Given the description of an element on the screen output the (x, y) to click on. 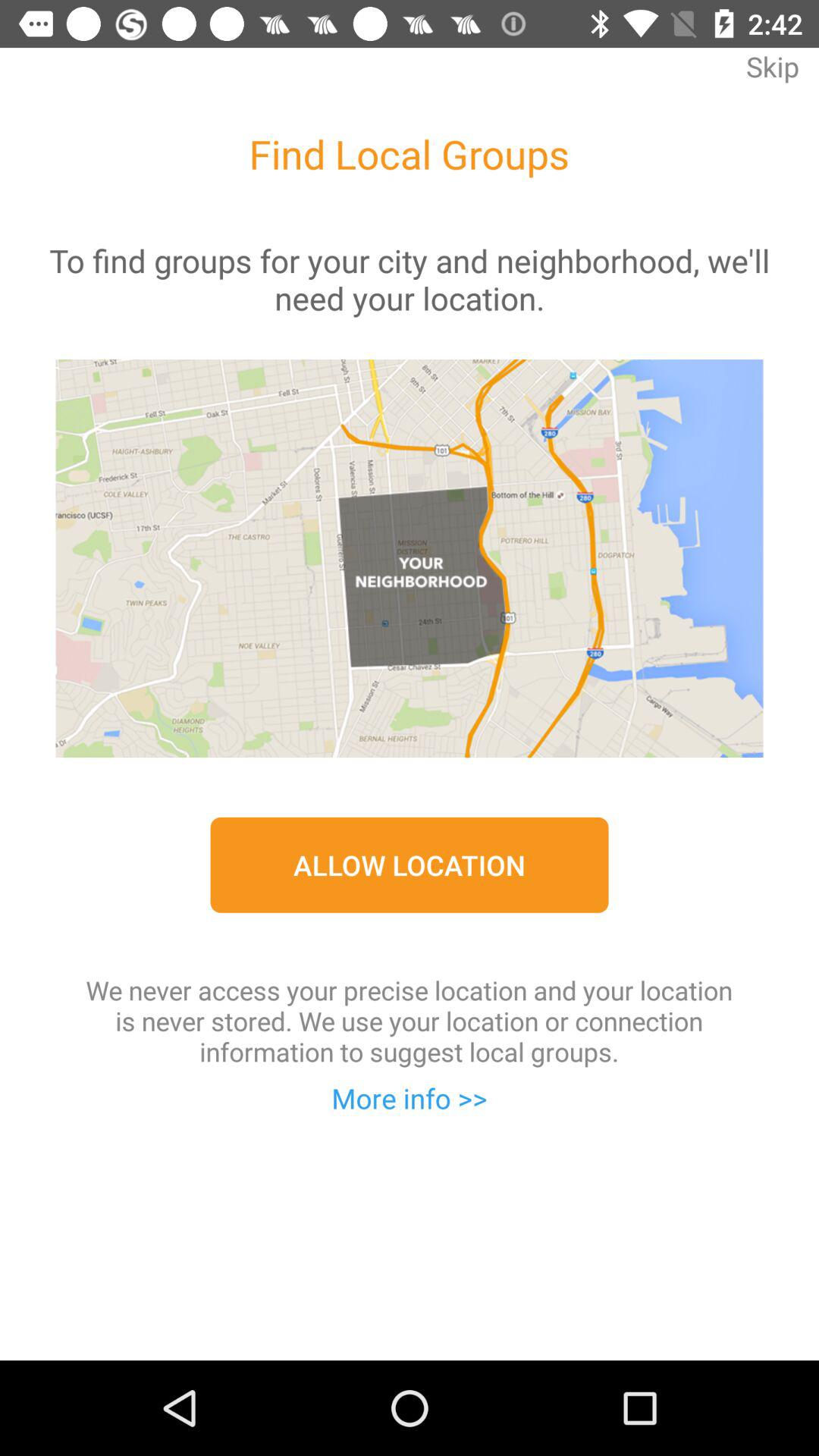
choose skip item (772, 77)
